Given the description of an element on the screen output the (x, y) to click on. 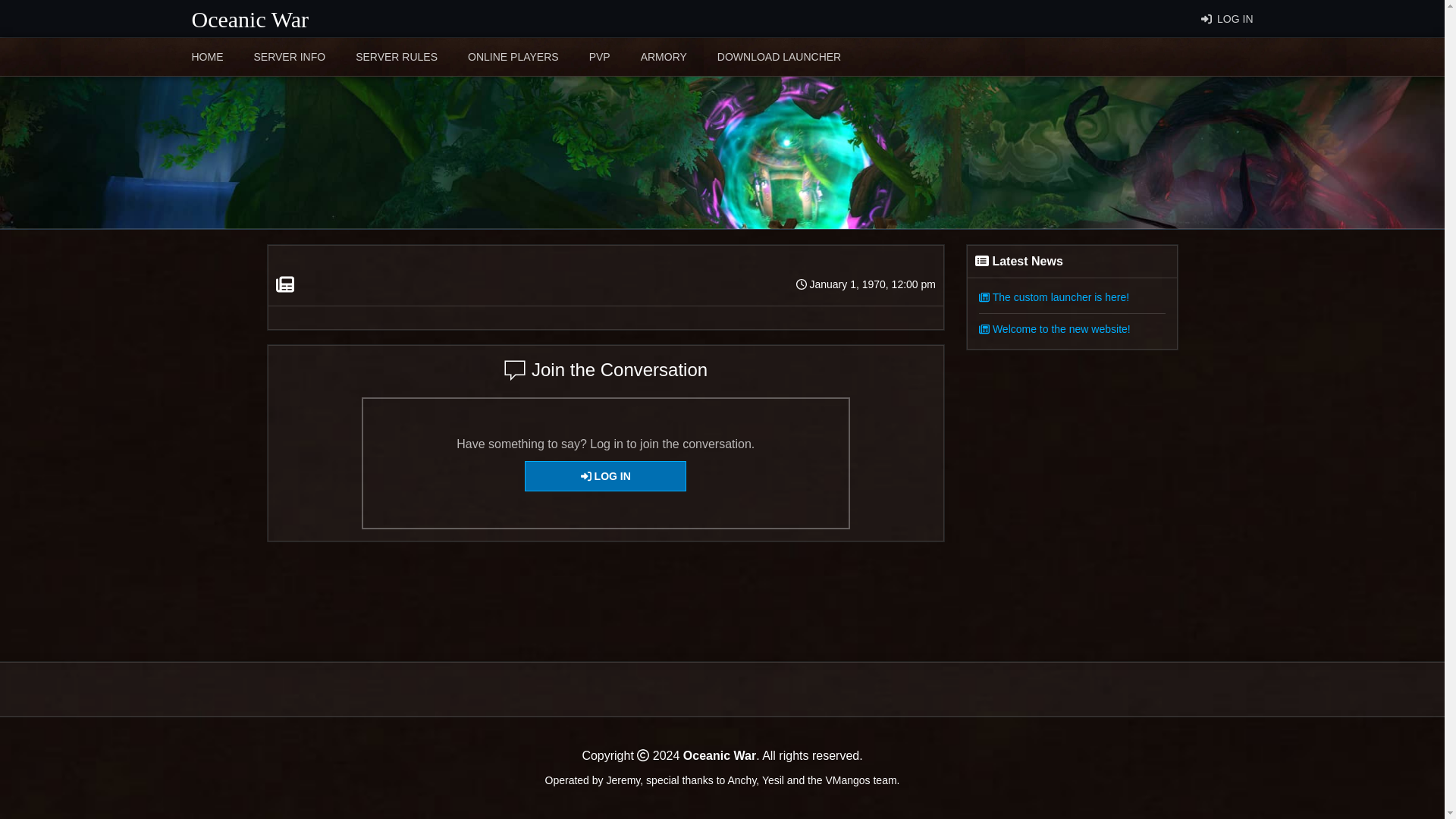
LOG IN (604, 476)
 LOG IN (1227, 18)
SERVER INFO (288, 56)
Oceanic War (248, 18)
ARMORY (663, 56)
The custom launcher is here! (1053, 297)
DOWNLOAD LAUNCHER (779, 56)
Welcome to the new website! (1054, 328)
ONLINE PLAYERS (513, 56)
SERVER RULES (396, 56)
